Given the description of an element on the screen output the (x, y) to click on. 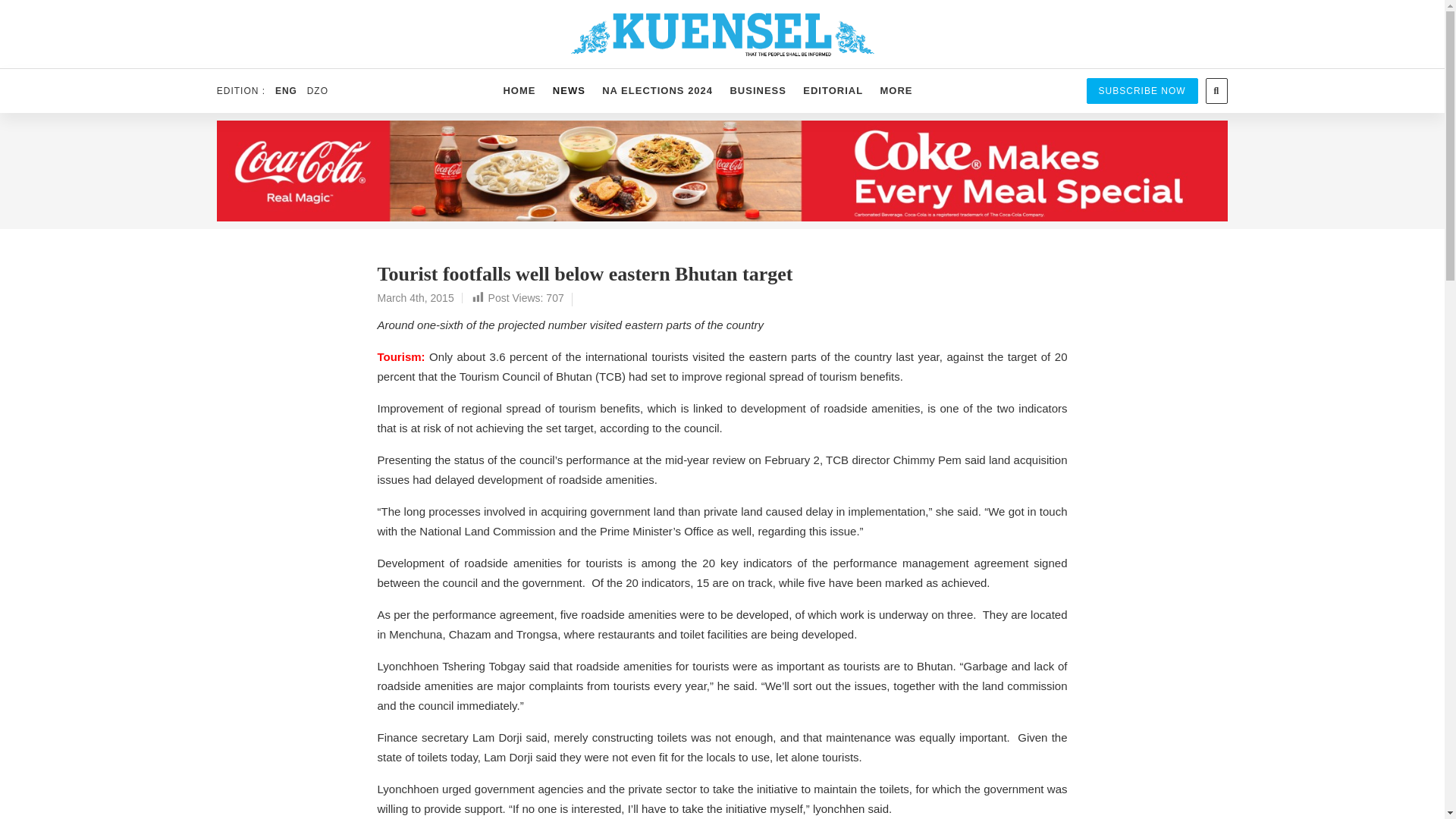
ENG (285, 91)
DZO (317, 91)
NEWS (569, 91)
MORE (895, 91)
EDITION : (243, 91)
BUSINESS (757, 91)
SUBSCRIBE NOW (1142, 90)
HOME (519, 91)
NA ELECTIONS 2024 (657, 91)
EDITORIAL (832, 91)
